Given the description of an element on the screen output the (x, y) to click on. 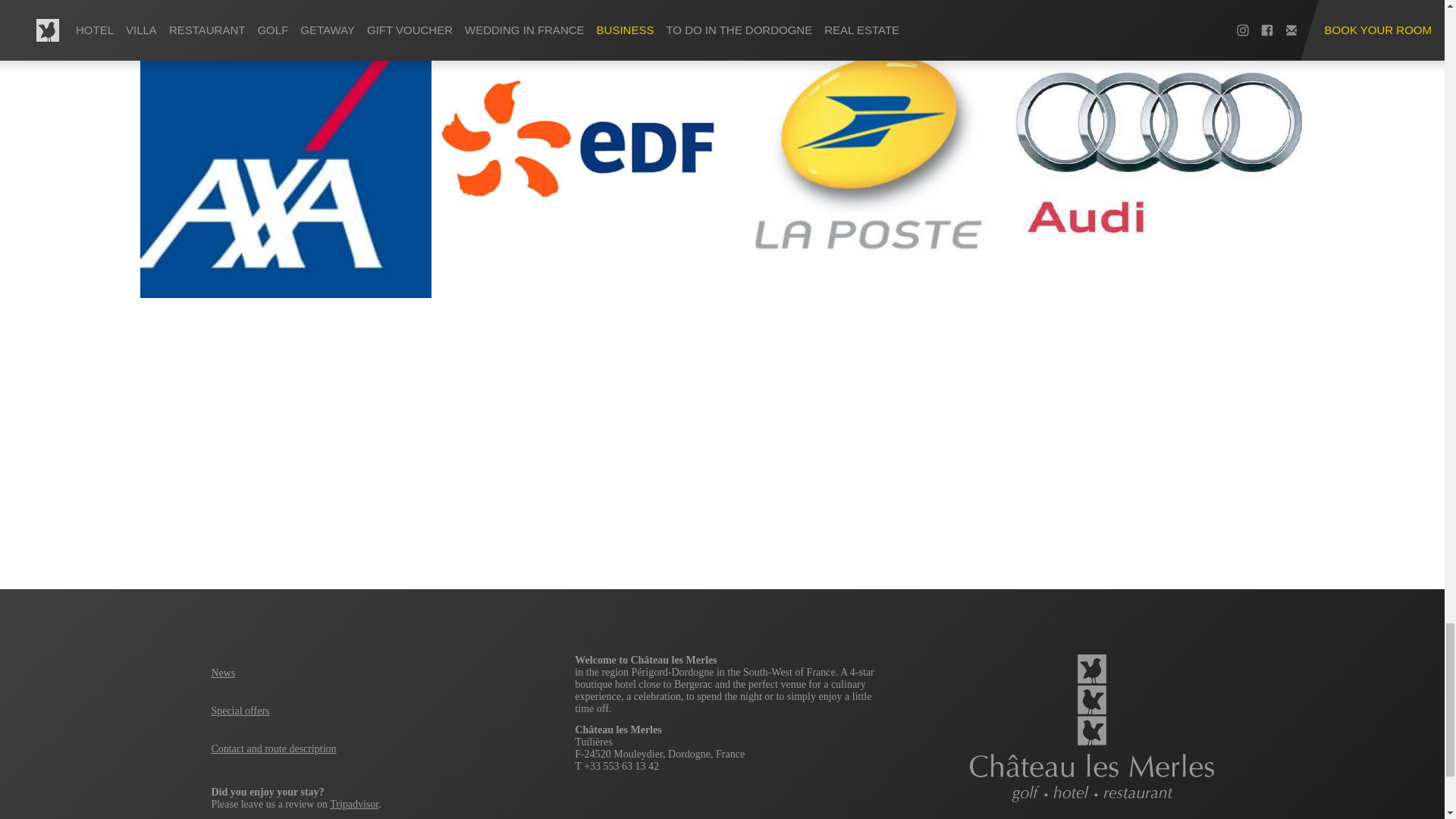
Contact and route description (273, 748)
Special offers (240, 710)
Tripadvisor (354, 803)
News (222, 672)
